Given the description of an element on the screen output the (x, y) to click on. 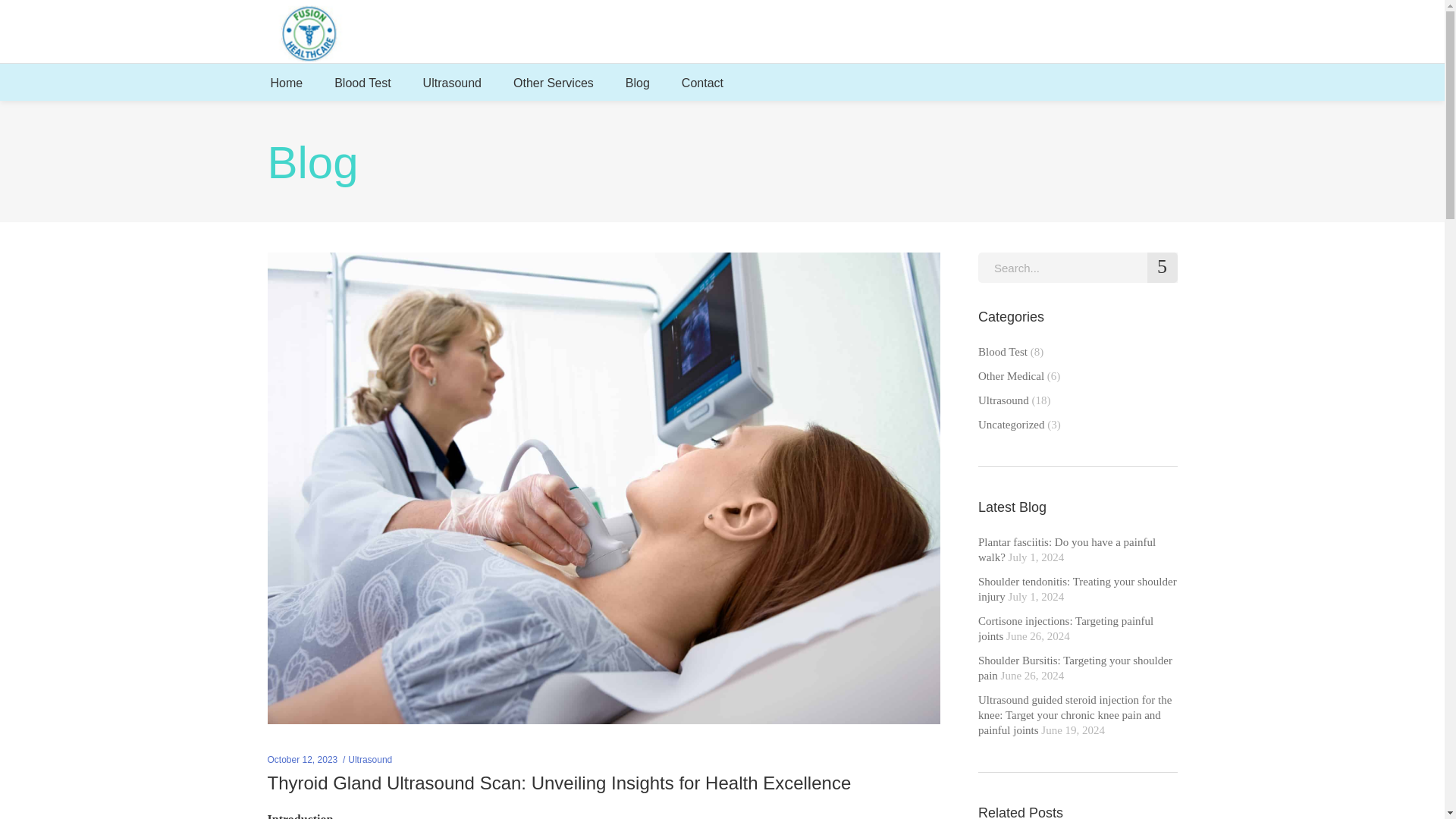
Blood Test (362, 81)
Search for: (1077, 267)
Home (286, 81)
